Given the description of an element on the screen output the (x, y) to click on. 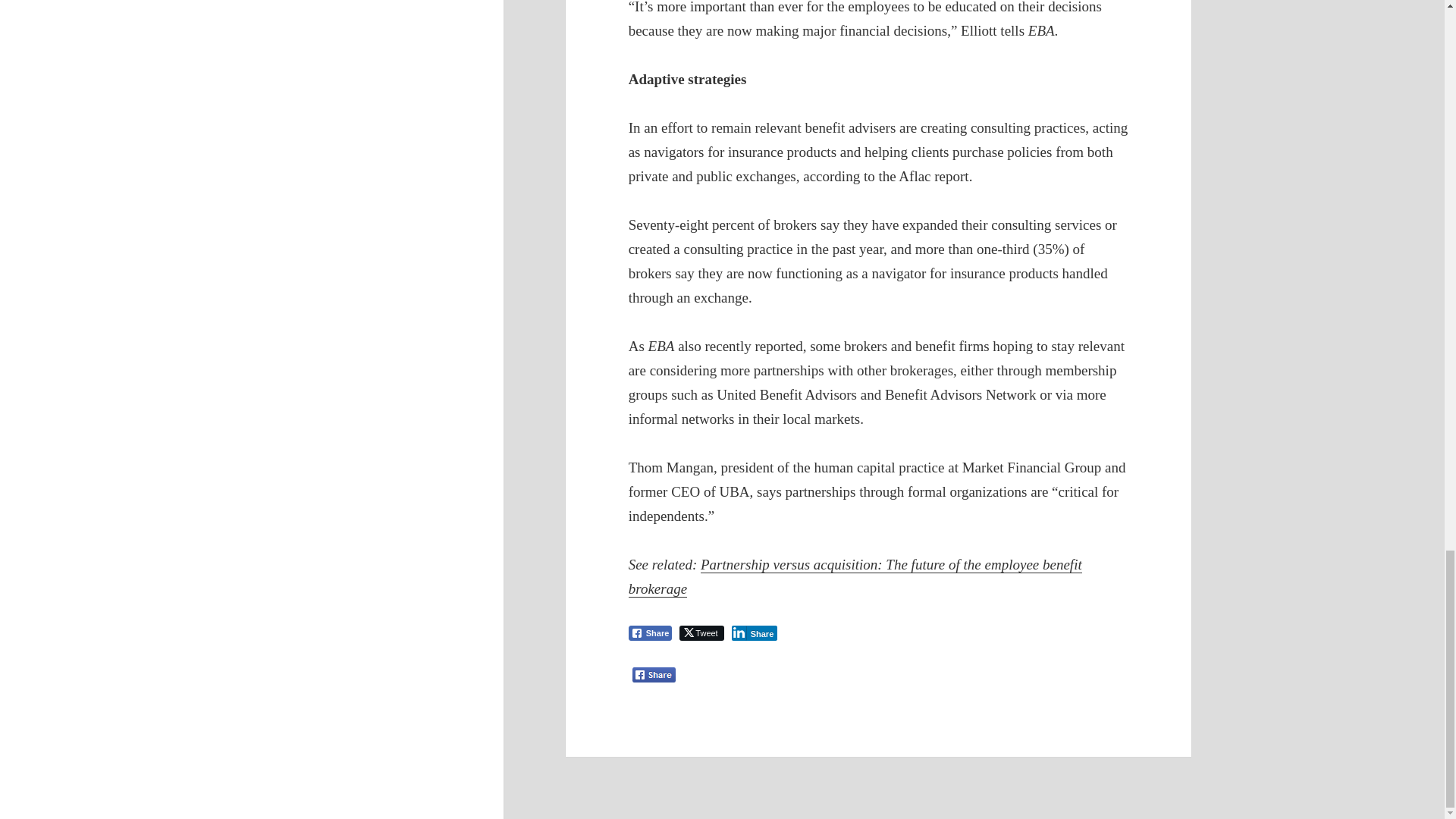
Share (650, 632)
Share (754, 632)
Tweet (701, 632)
